Given the description of an element on the screen output the (x, y) to click on. 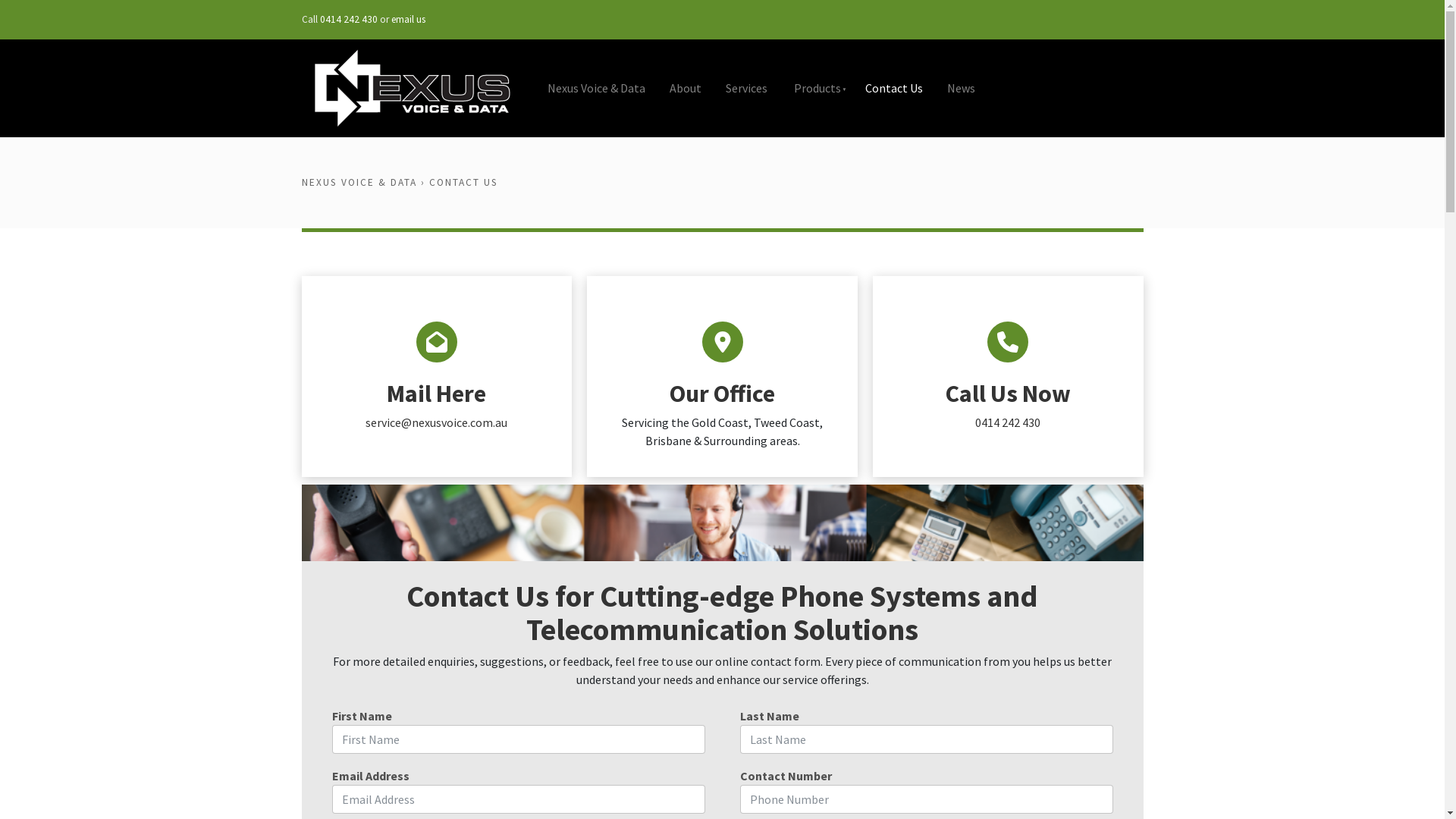
0414 242 430 Element type: text (348, 18)
service@nexusvoice.com.au Element type: text (436, 421)
Services Element type: text (745, 87)
About Element type: text (684, 87)
Products Element type: text (816, 87)
0414 242 430 Element type: text (1007, 421)
News Element type: text (960, 87)
Nexus Voice & Data Element type: text (596, 87)
Contact Us Element type: text (893, 87)
NEXUS VOICE & DATA Element type: text (359, 181)
email us Element type: text (408, 18)
